Given the description of an element on the screen output the (x, y) to click on. 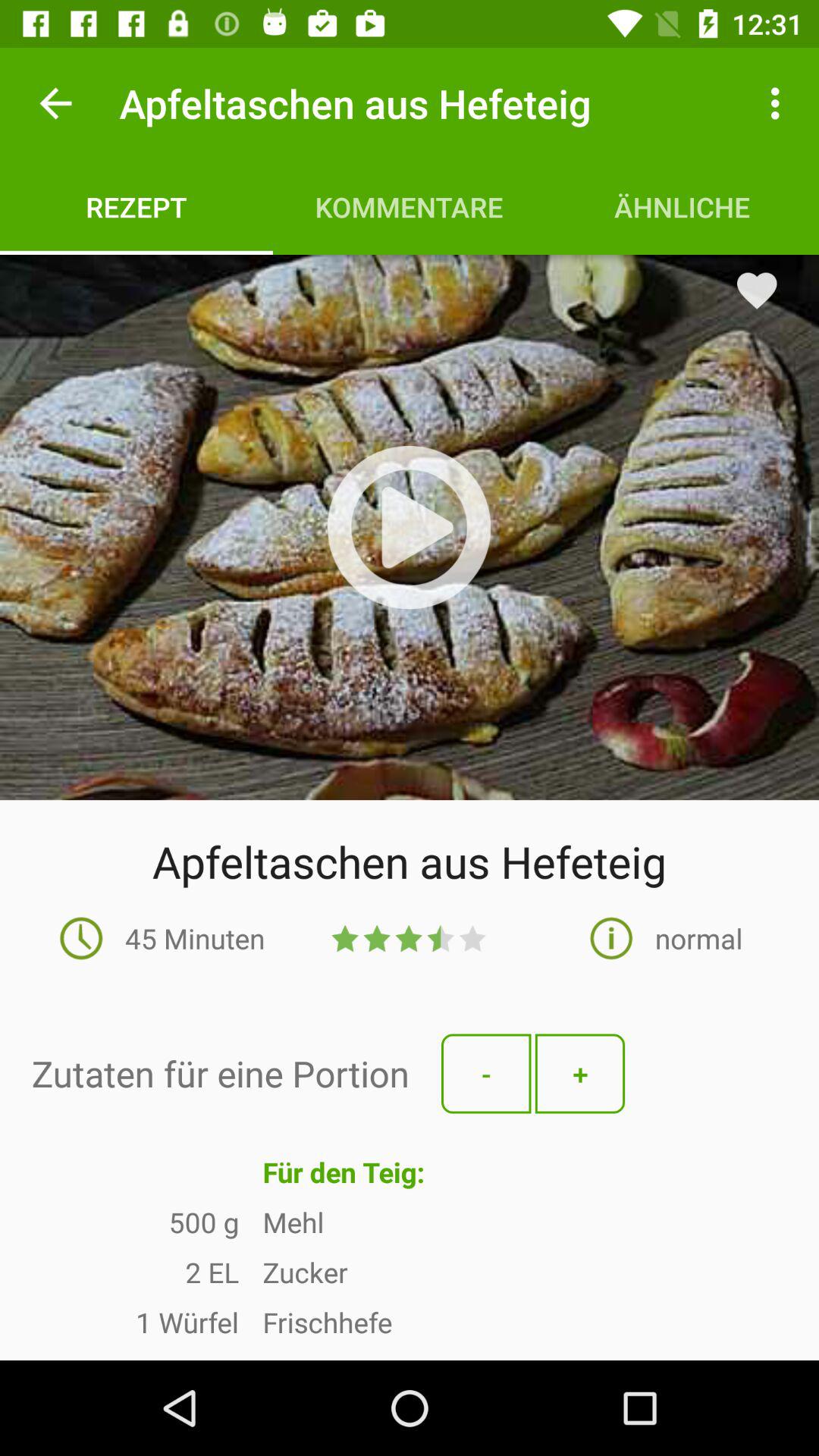
colou pinter (409, 527)
